Given the description of an element on the screen output the (x, y) to click on. 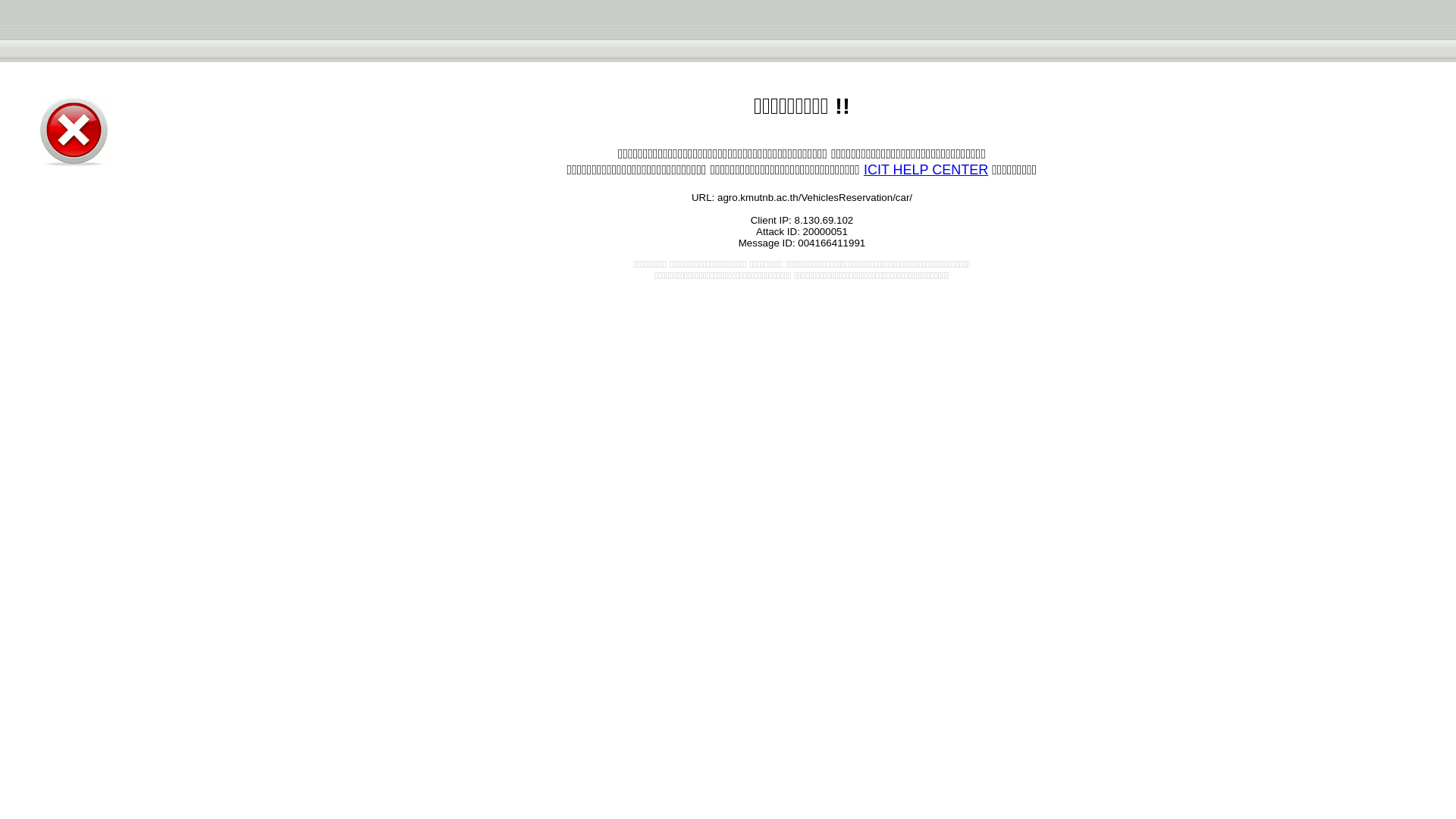
ICIT HELP CENTER (925, 169)
